Given the description of an element on the screen output the (x, y) to click on. 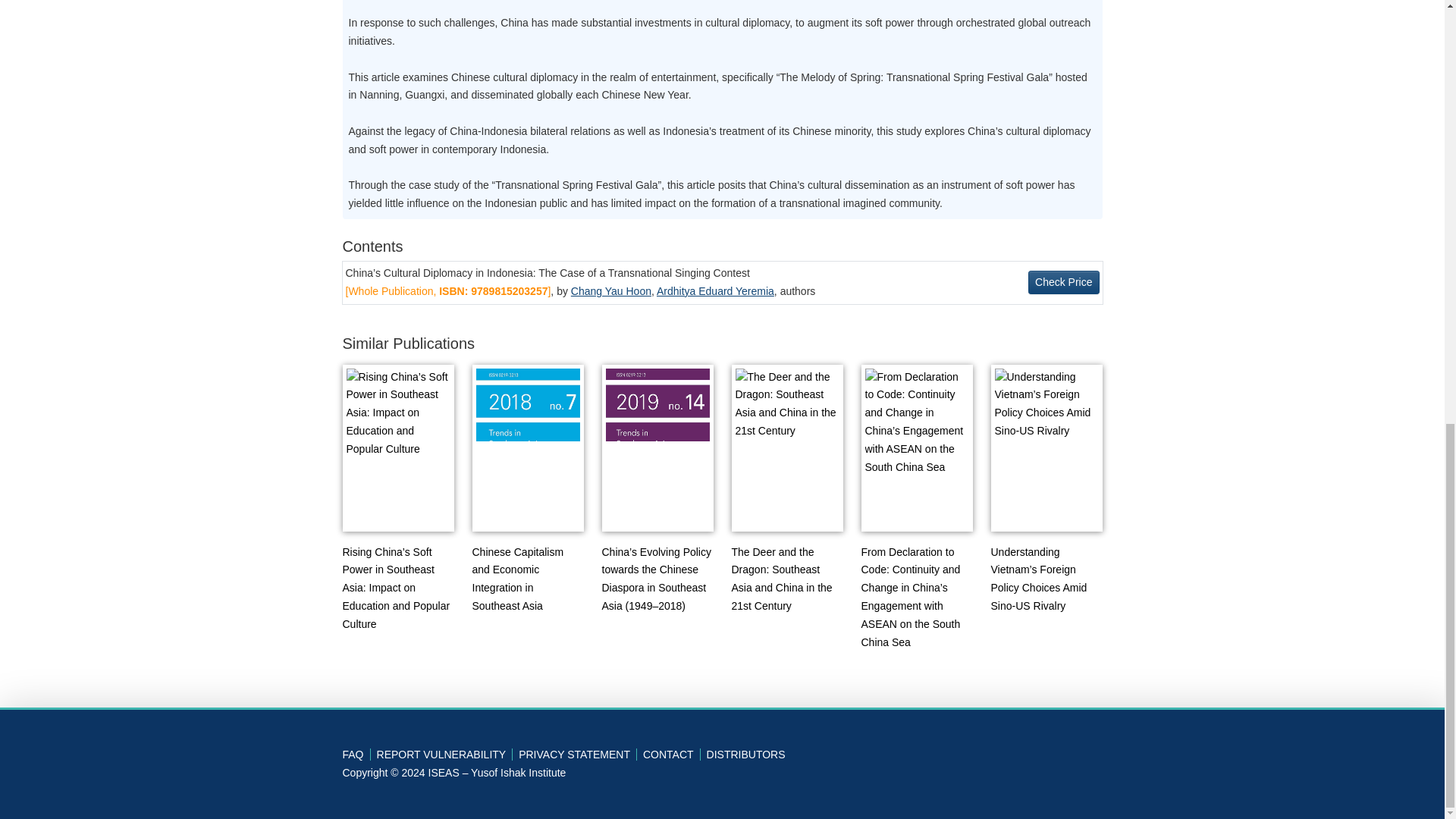
Check Price (1063, 282)
FAQ (356, 754)
CONTACT (671, 754)
DISTRIBUTORS (746, 754)
Ardhitya Eduard Yeremia (715, 291)
REPORT VULNERABILITY (445, 754)
Chang Yau Hoon (610, 291)
PRIVACY STATEMENT (577, 754)
